Given the description of an element on the screen output the (x, y) to click on. 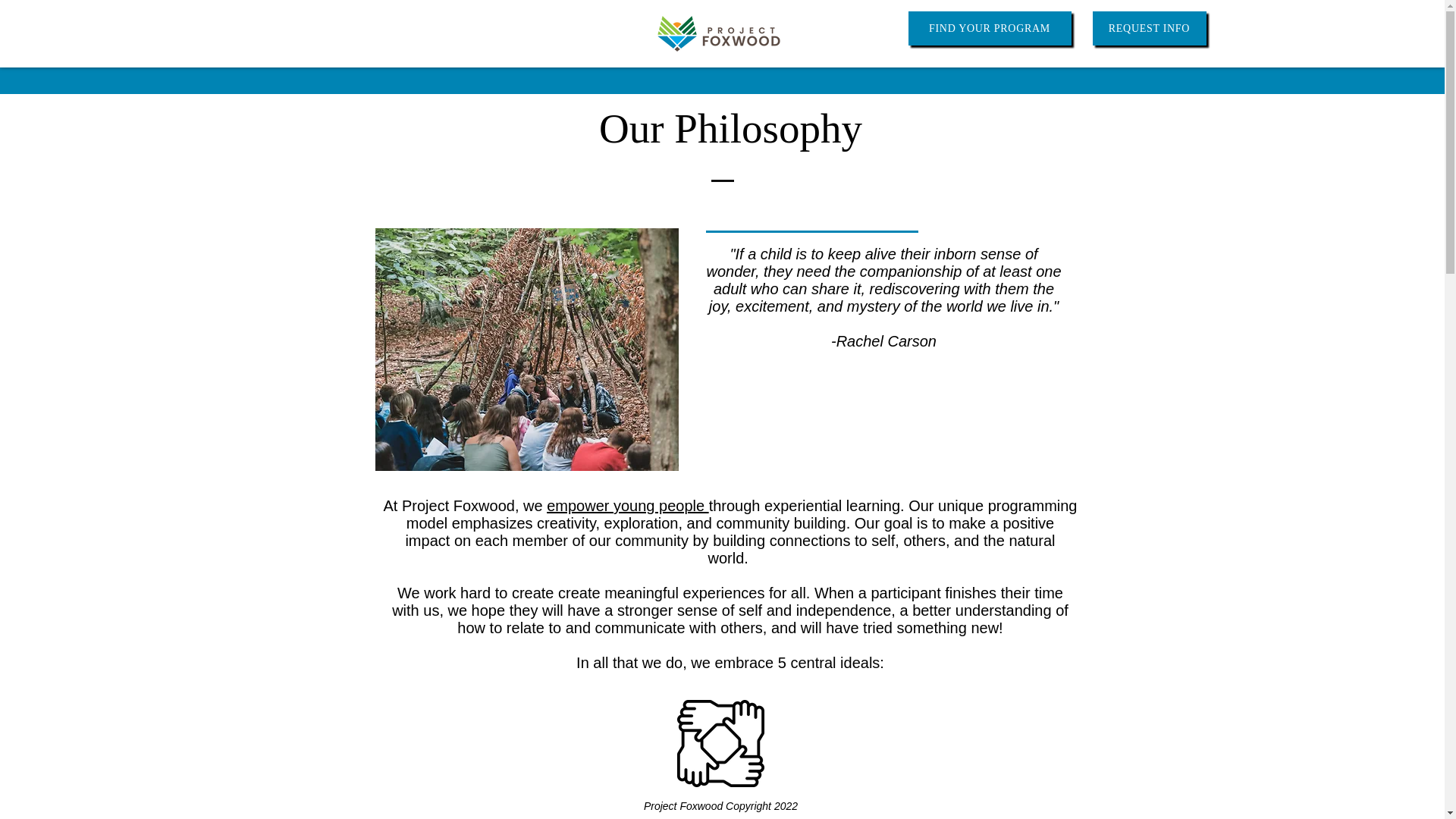
REQUEST INFO (1148, 28)
logo-project-foxwood-horizontal.png (718, 33)
empower young people  (627, 505)
FIND YOUR PROGRAM (989, 28)
